Given the description of an element on the screen output the (x, y) to click on. 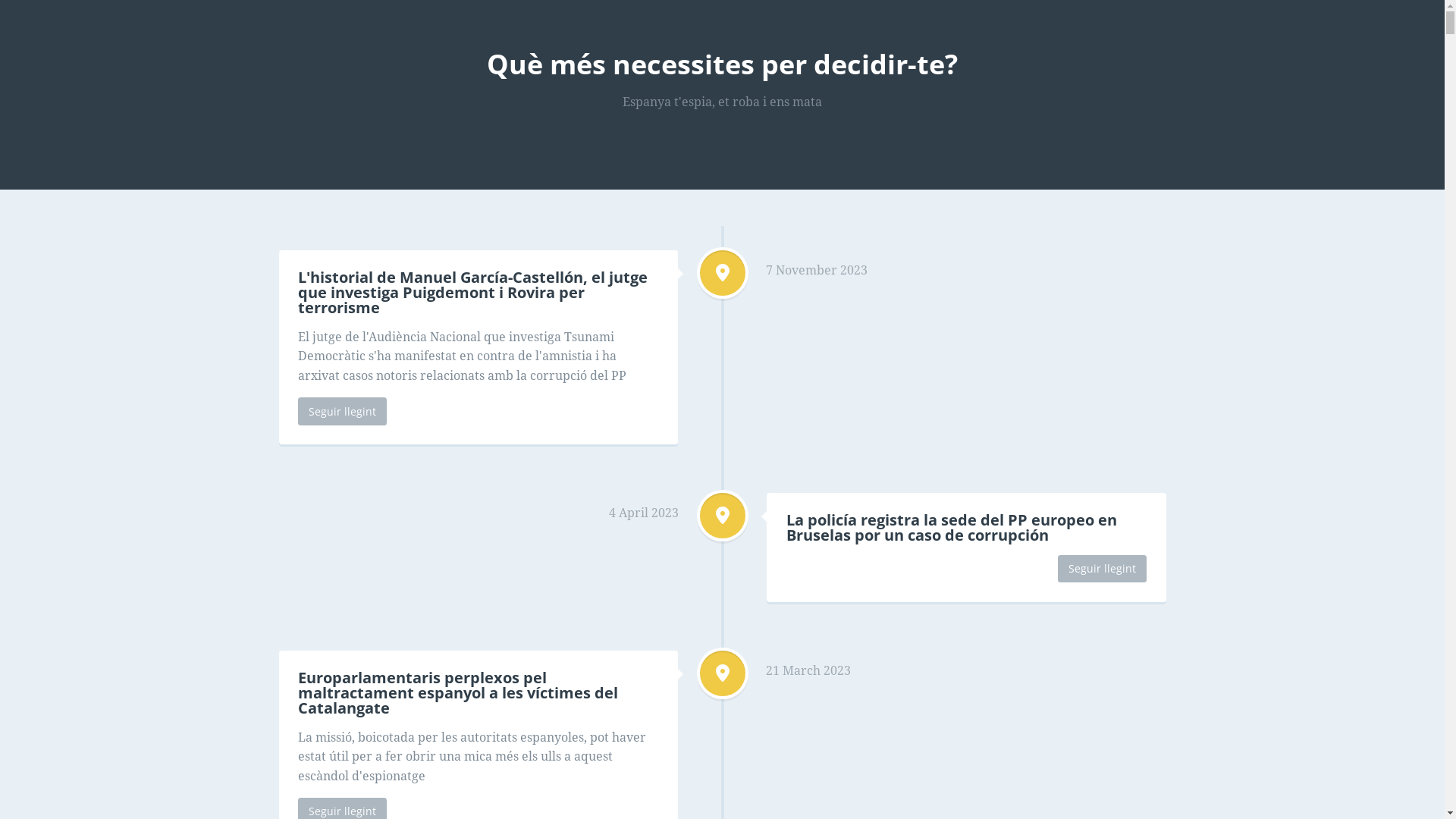
Seguir llegint Element type: text (1101, 568)
Seguir llegint Element type: text (342, 410)
